Given the description of an element on the screen output the (x, y) to click on. 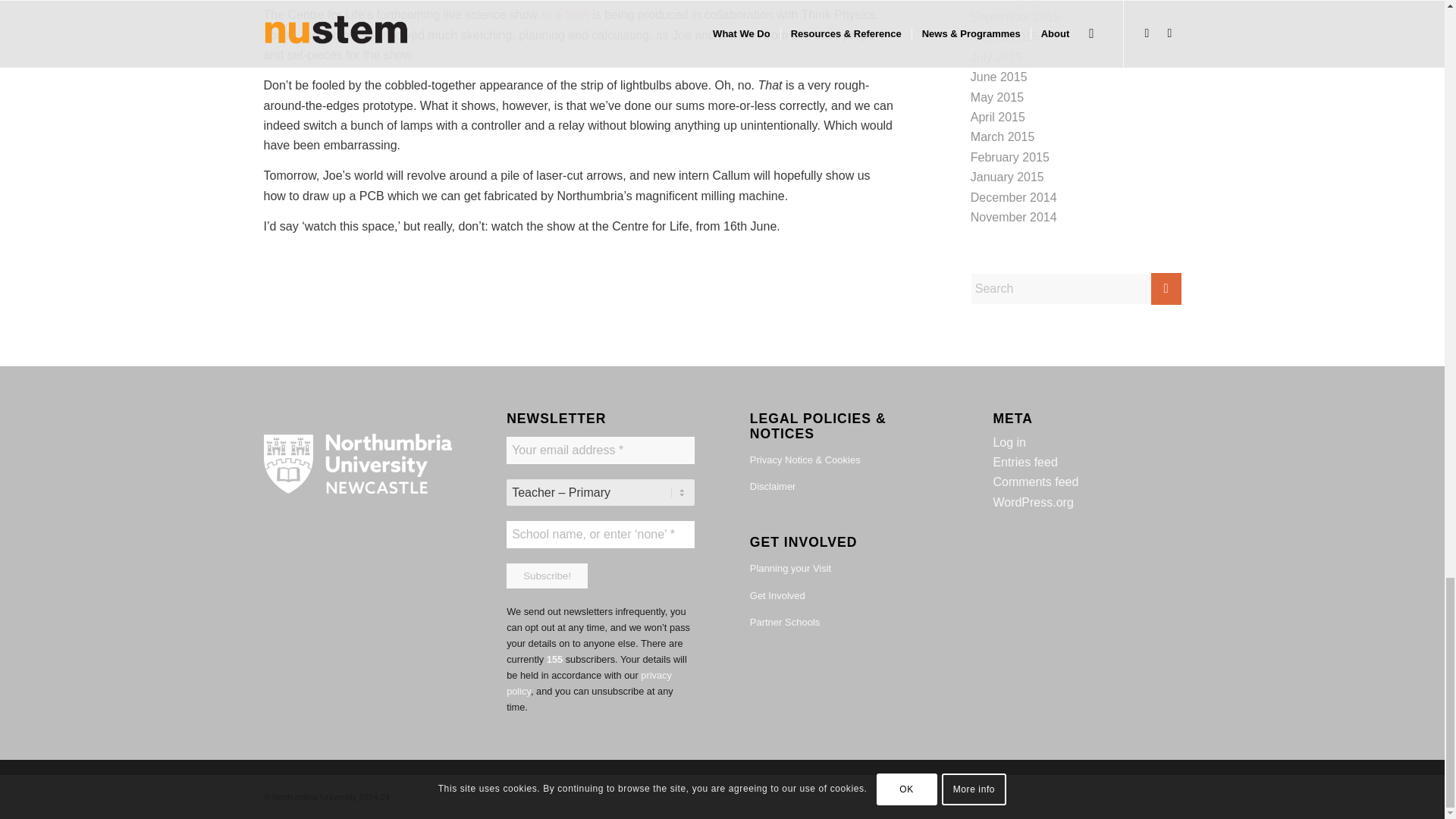
Subscribe! (547, 575)
